Given the description of an element on the screen output the (x, y) to click on. 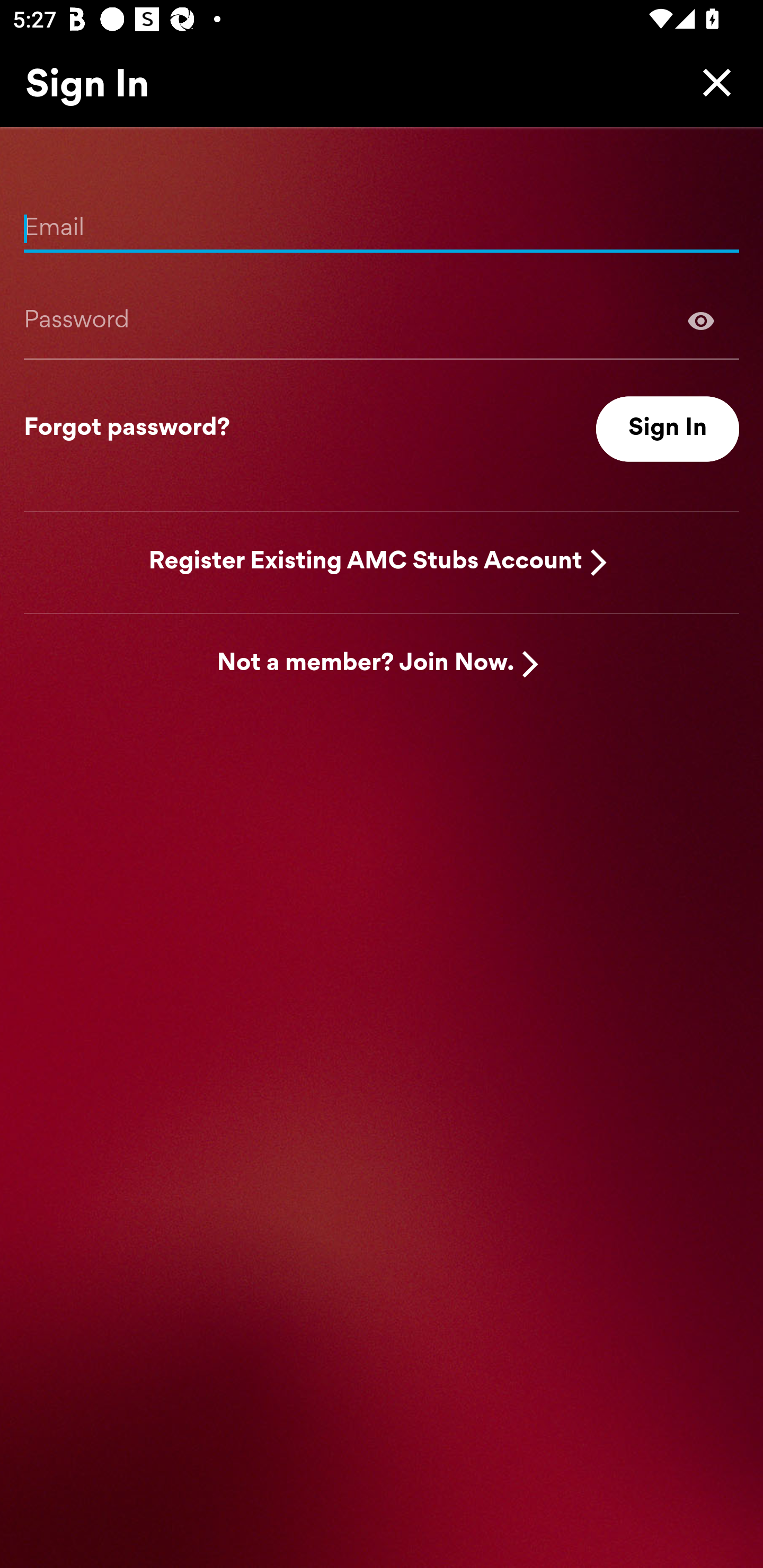
Close (712, 82)
Show Password (381, 320)
Show Password (701, 320)
Forgot password? (126, 428)
Sign In (667, 428)
Register Existing AMC Stubs Account (365, 561)
Not a member? Join Now. (365, 663)
